Given the description of an element on the screen output the (x, y) to click on. 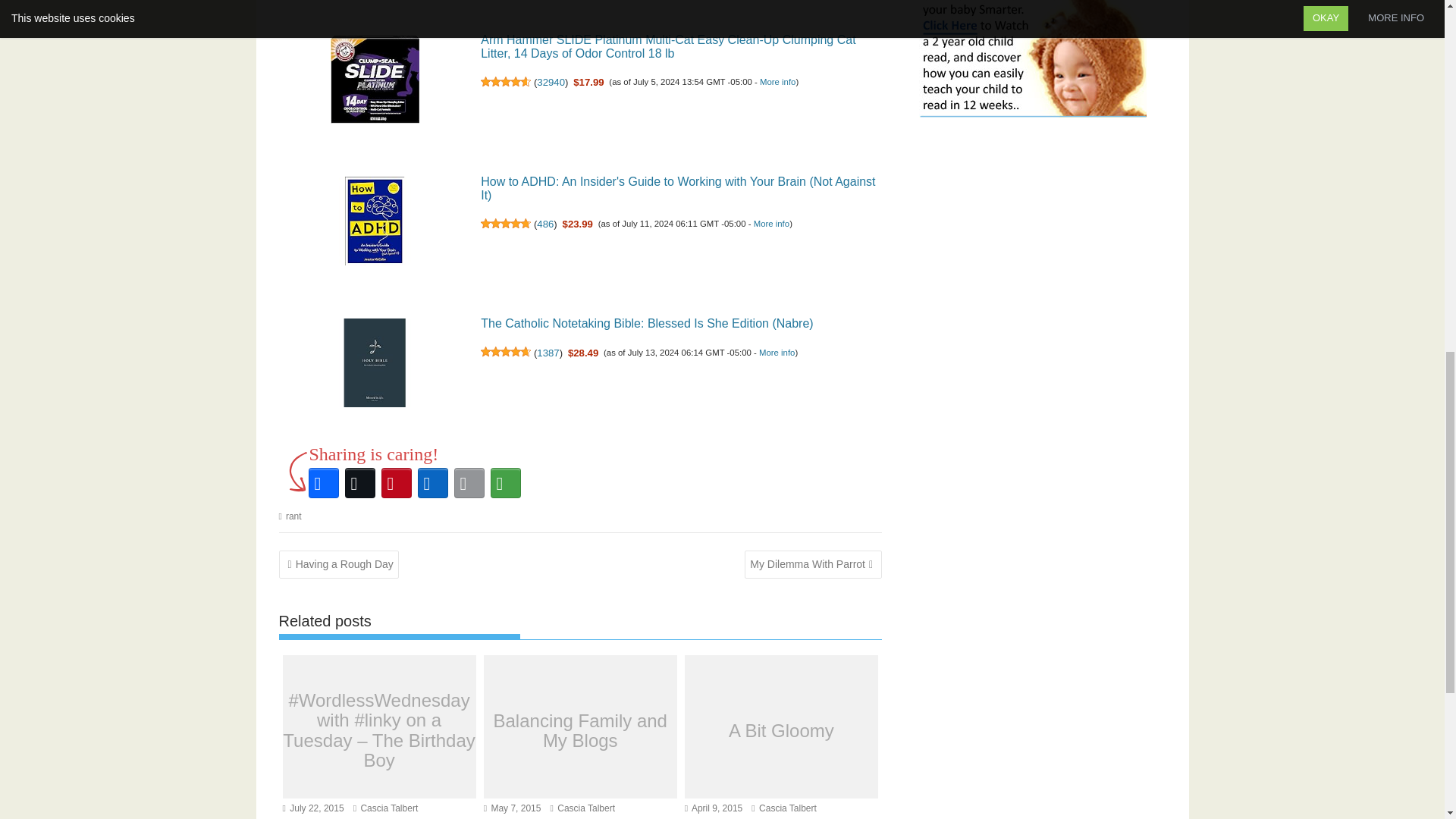
32940 (550, 81)
More info (777, 81)
Facebook (322, 483)
